Given the description of an element on the screen output the (x, y) to click on. 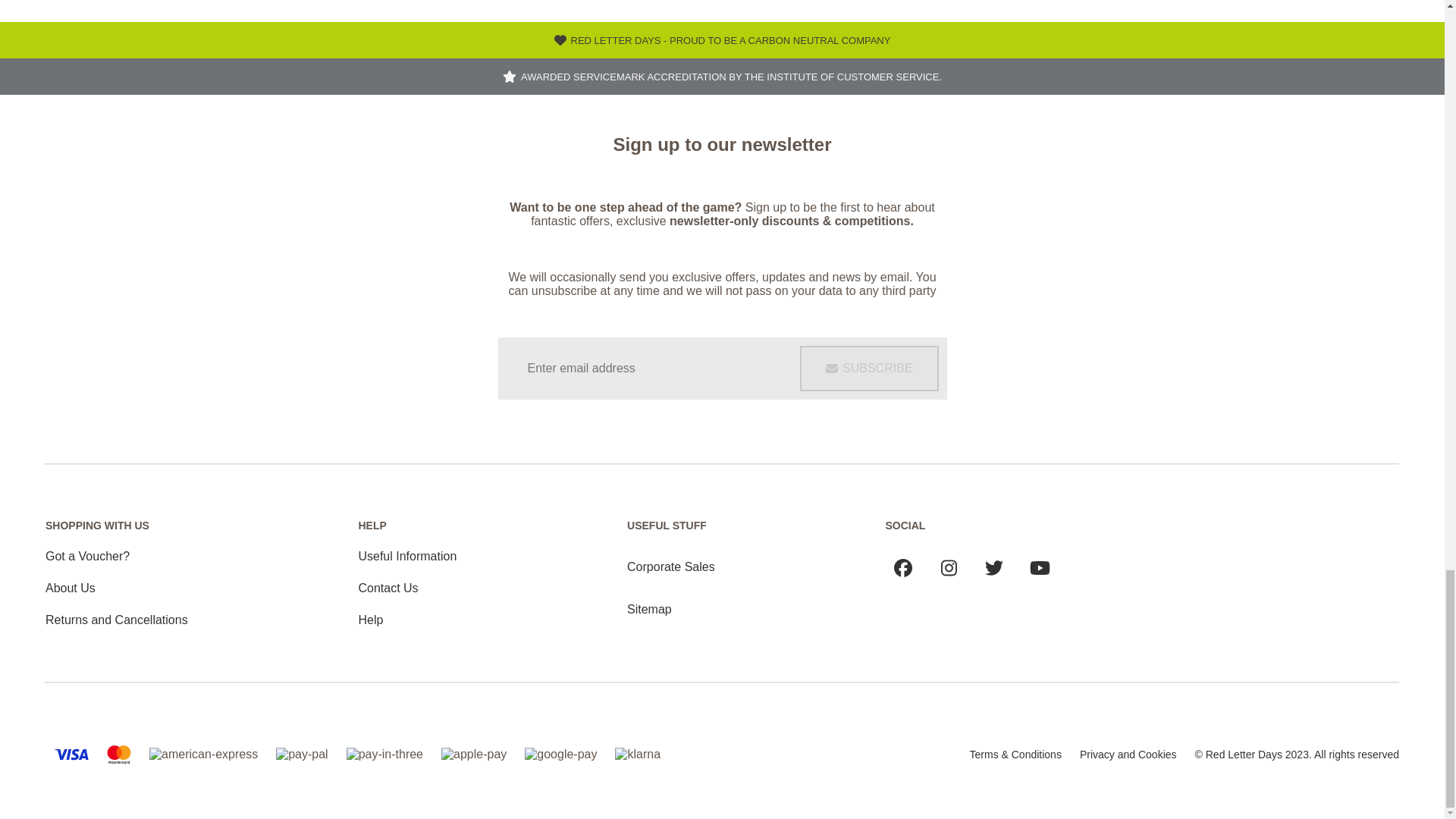
facebook (903, 567)
twitter (993, 567)
instagram (948, 567)
youtube (1040, 567)
